Given the description of an element on the screen output the (x, y) to click on. 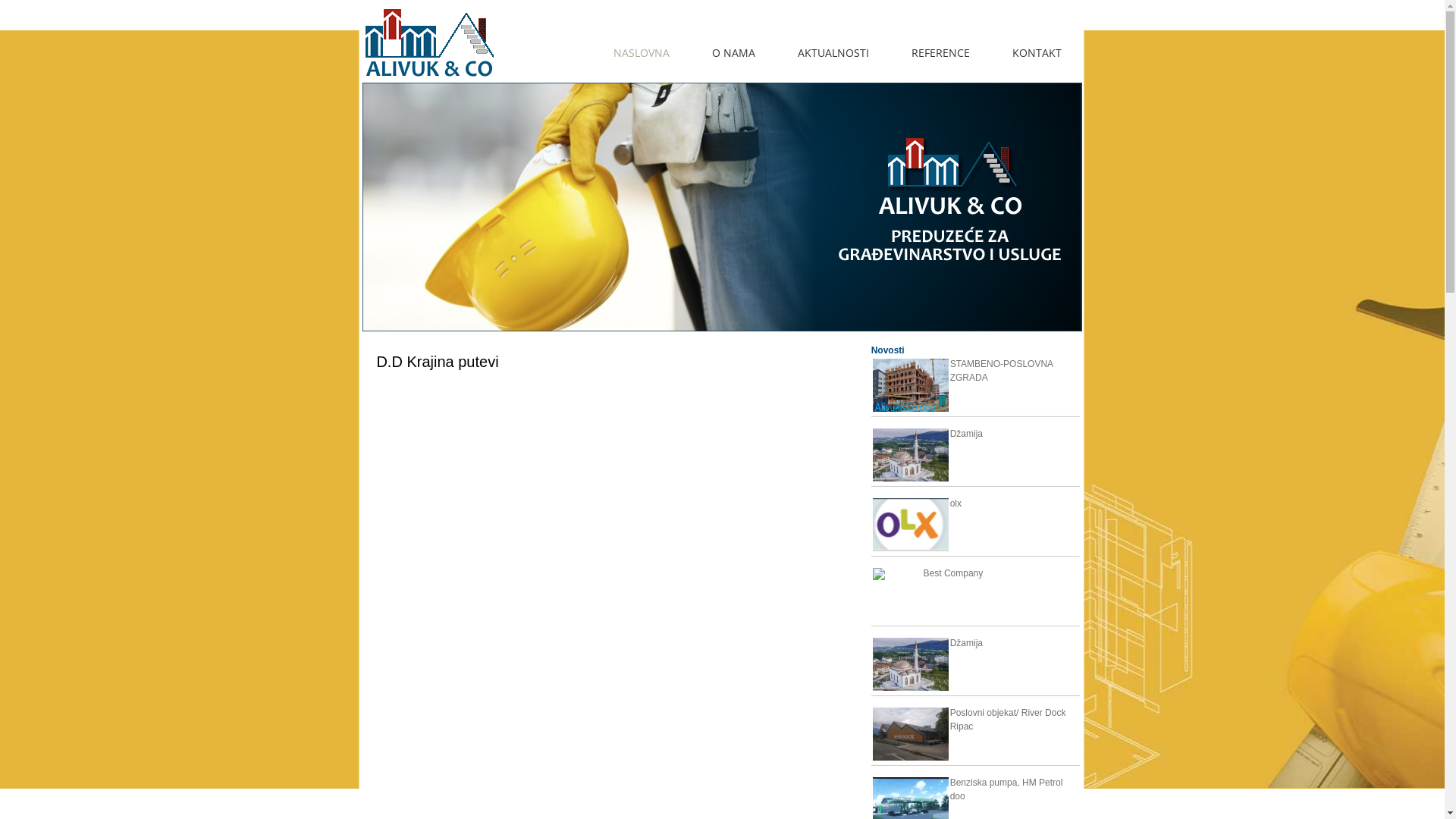
O NAMA Element type: text (732, 48)
olx Element type: hover (910, 503)
NASLOVNA Element type: text (640, 48)
Poslovni objekat/ River Dock Ripac Element type: hover (910, 712)
STAMBENO-POSLOVNA ZGRADA Element type: hover (910, 363)
Best Company Element type: hover (897, 572)
AKTUALNOSTI Element type: text (833, 48)
Benziska pumpa, HM Petrol doo Element type: hover (910, 782)
REFERENCE Element type: text (940, 48)
KONTAKT Element type: text (1035, 48)
